Given the description of an element on the screen output the (x, y) to click on. 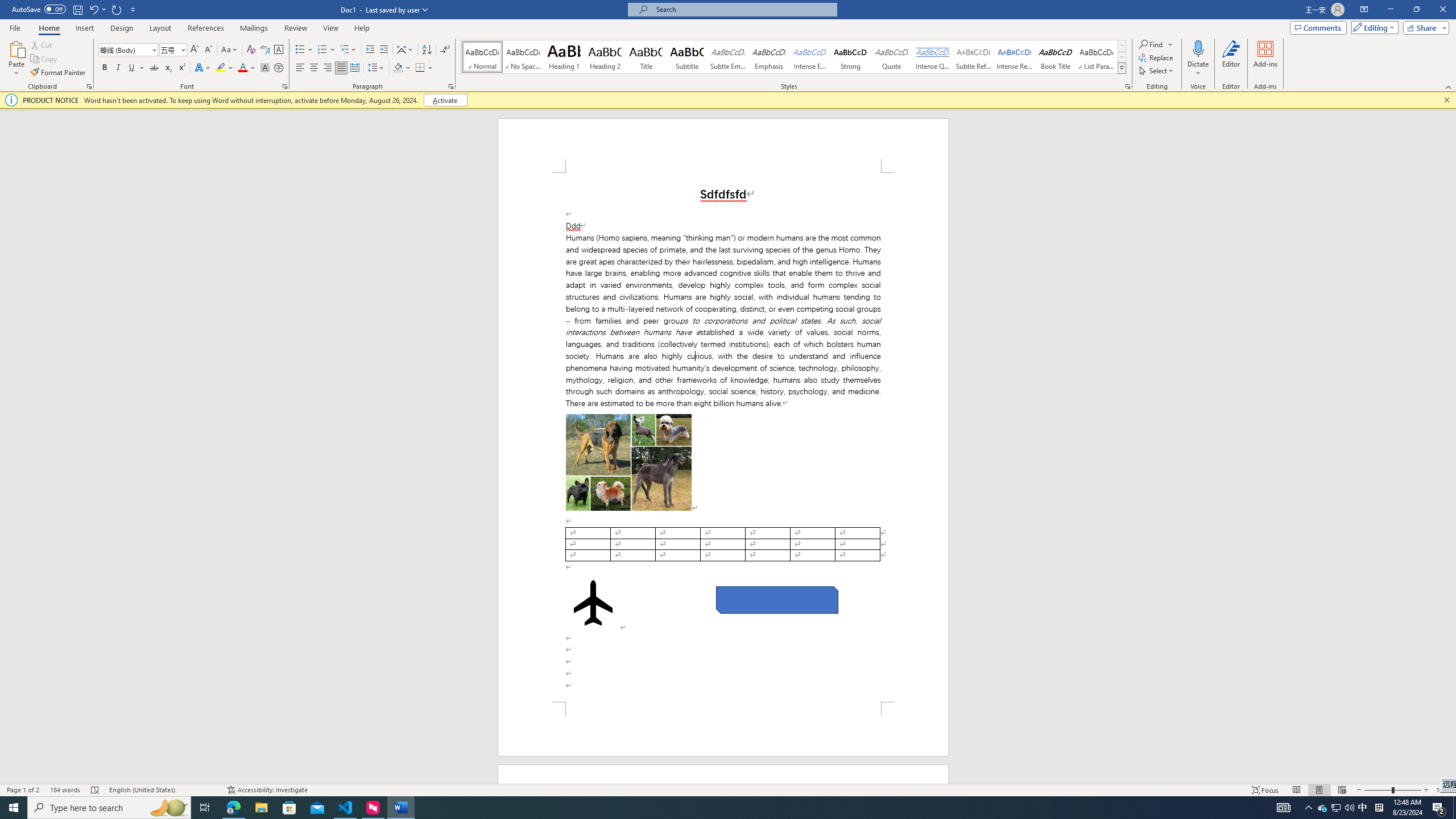
Undo Italic (96, 9)
Zoom 100% (1443, 790)
Heading 2 (605, 56)
